Given the description of an element on the screen output the (x, y) to click on. 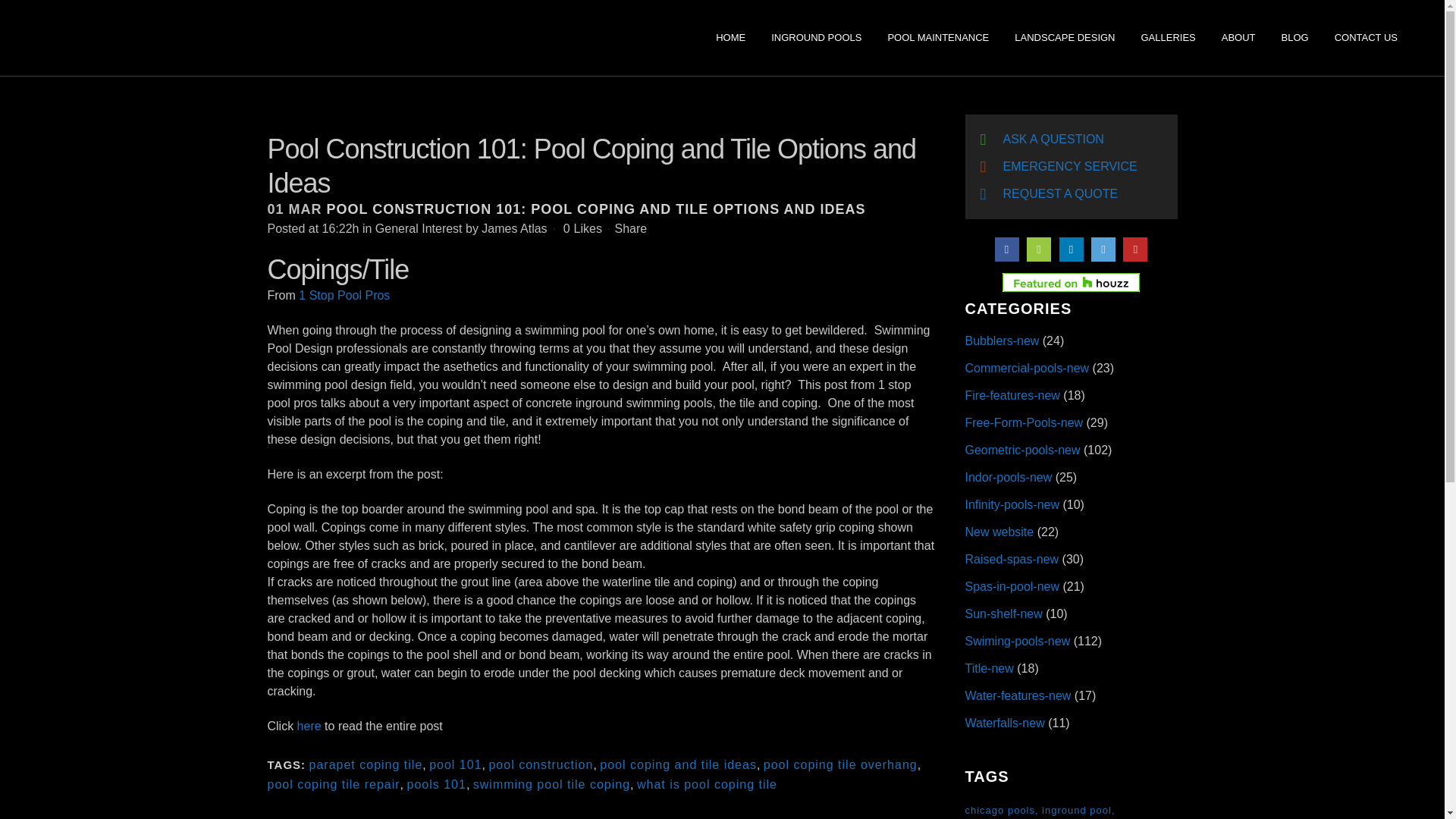
POOL MAINTENANCE (938, 38)
Like this (582, 228)
GALLERIES (1168, 38)
INGROUND POOLS (816, 38)
LANDSCAPE DESIGN (1063, 38)
